Given the description of an element on the screen output the (x, y) to click on. 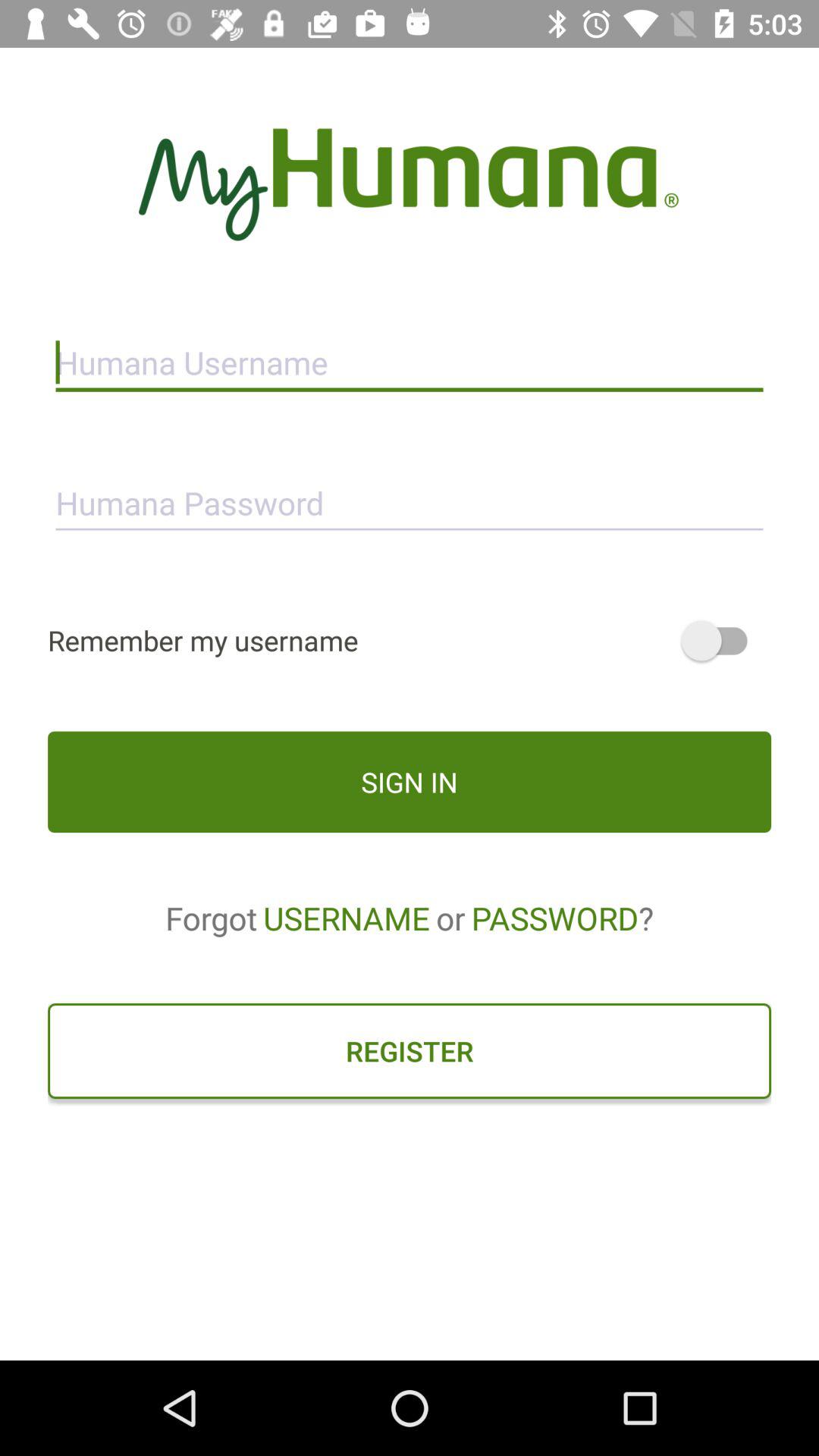
select remember my username icon (409, 640)
